Given the description of an element on the screen output the (x, y) to click on. 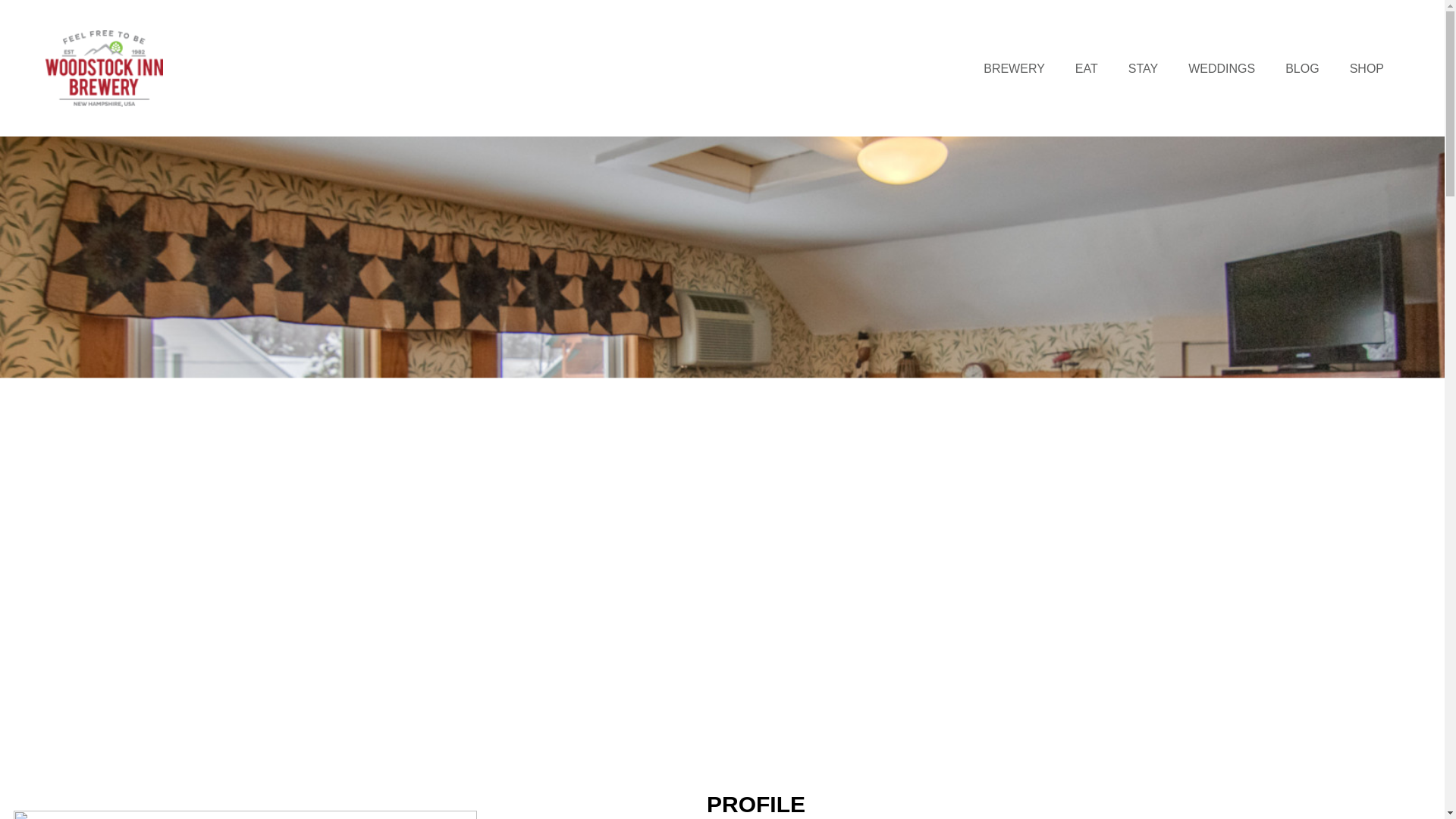
BREWERY (1013, 68)
BLOG (1301, 68)
WEDDINGS (1221, 68)
SHOP (1366, 68)
EAT (1085, 68)
STAY (1142, 68)
